Given the description of an element on the screen output the (x, y) to click on. 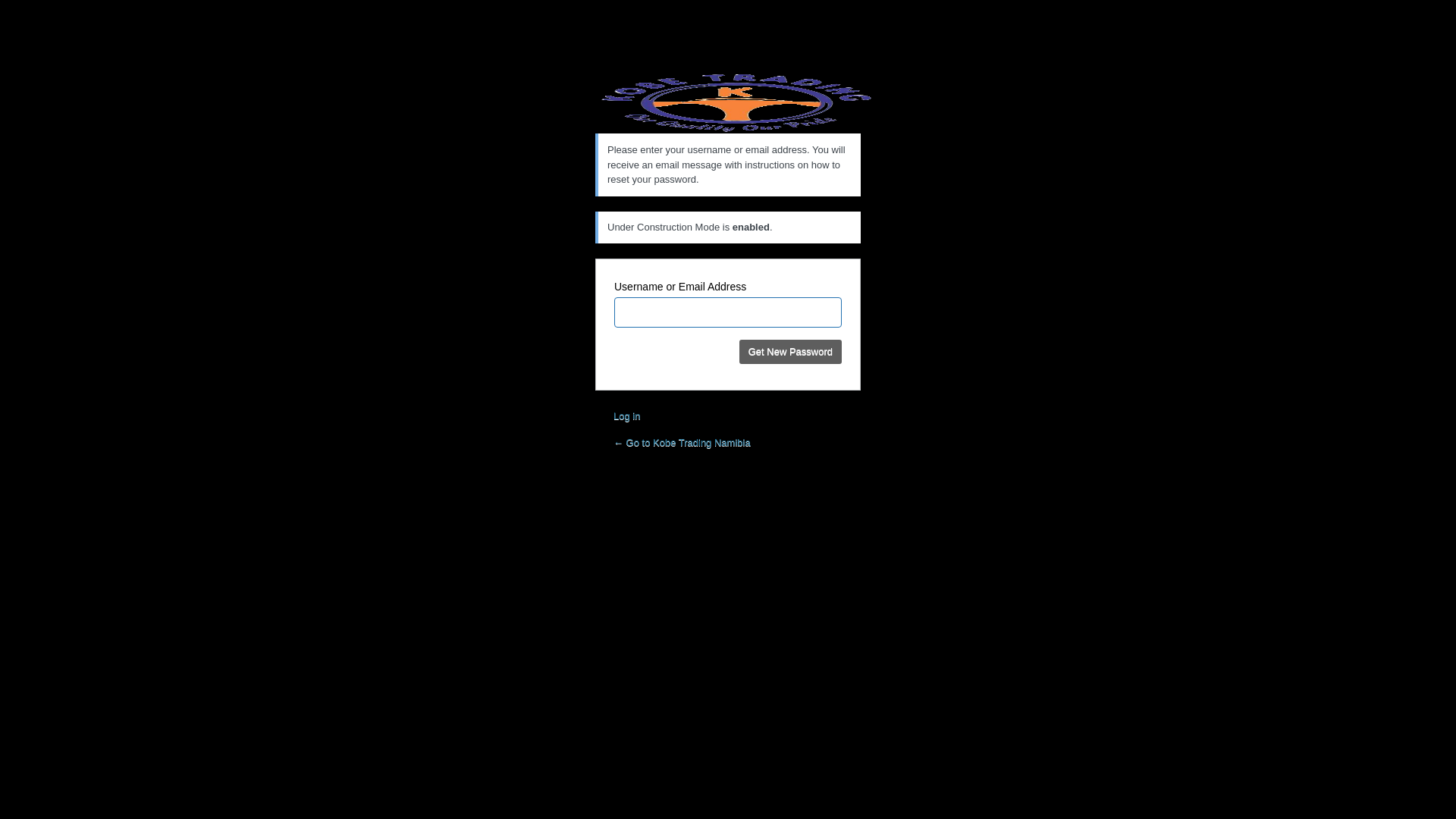
Get New Password Element type: text (790, 351)
Log in Element type: text (626, 415)
Powered by Yahya Car Sales Element type: text (737, 102)
